Given the description of an element on the screen output the (x, y) to click on. 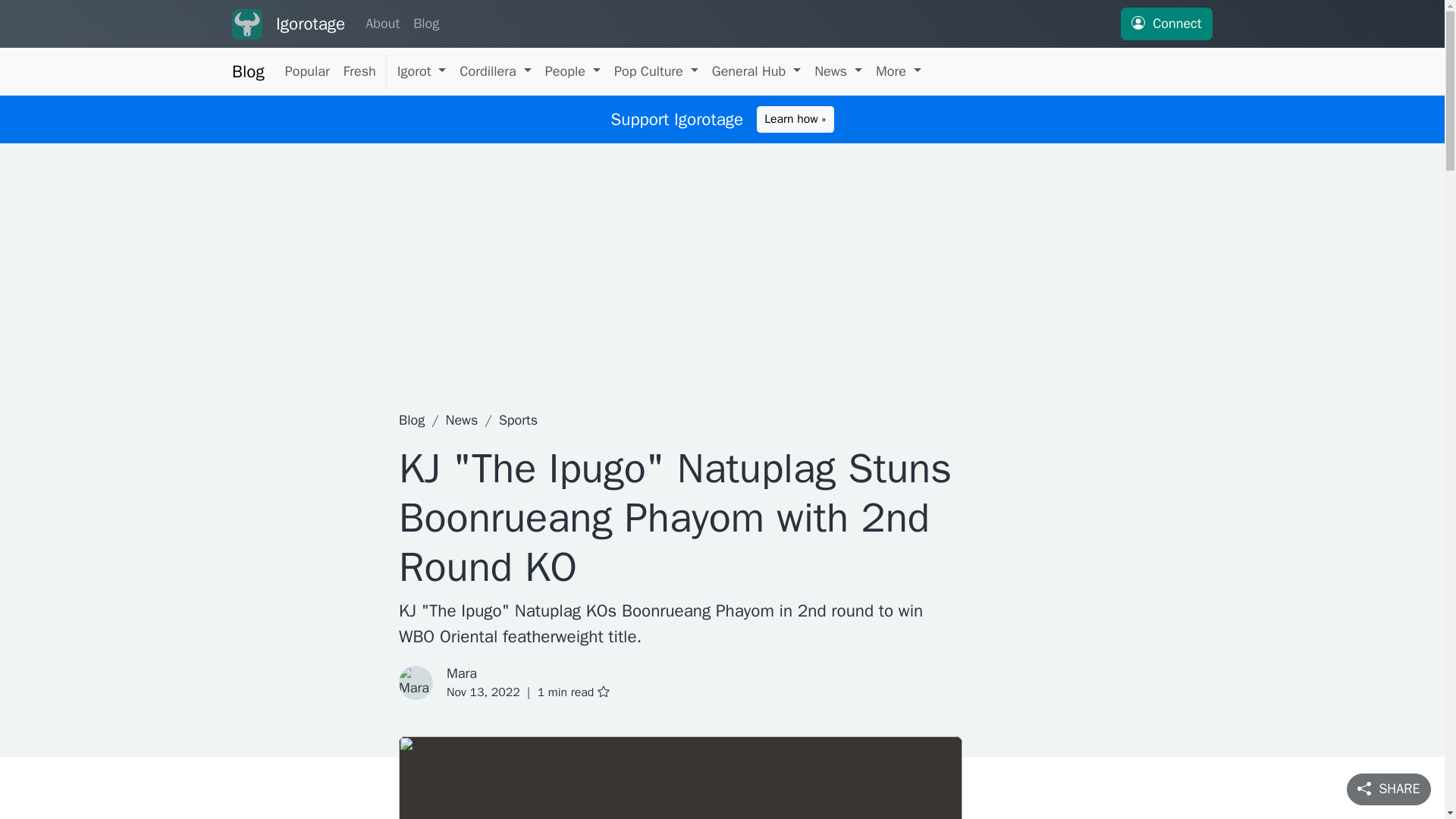
Igorotage logo nav (246, 24)
Igorotage (246, 24)
Connect (1166, 23)
Blog (425, 23)
About (382, 23)
Igorotage (310, 23)
